Given the description of an element on the screen output the (x, y) to click on. 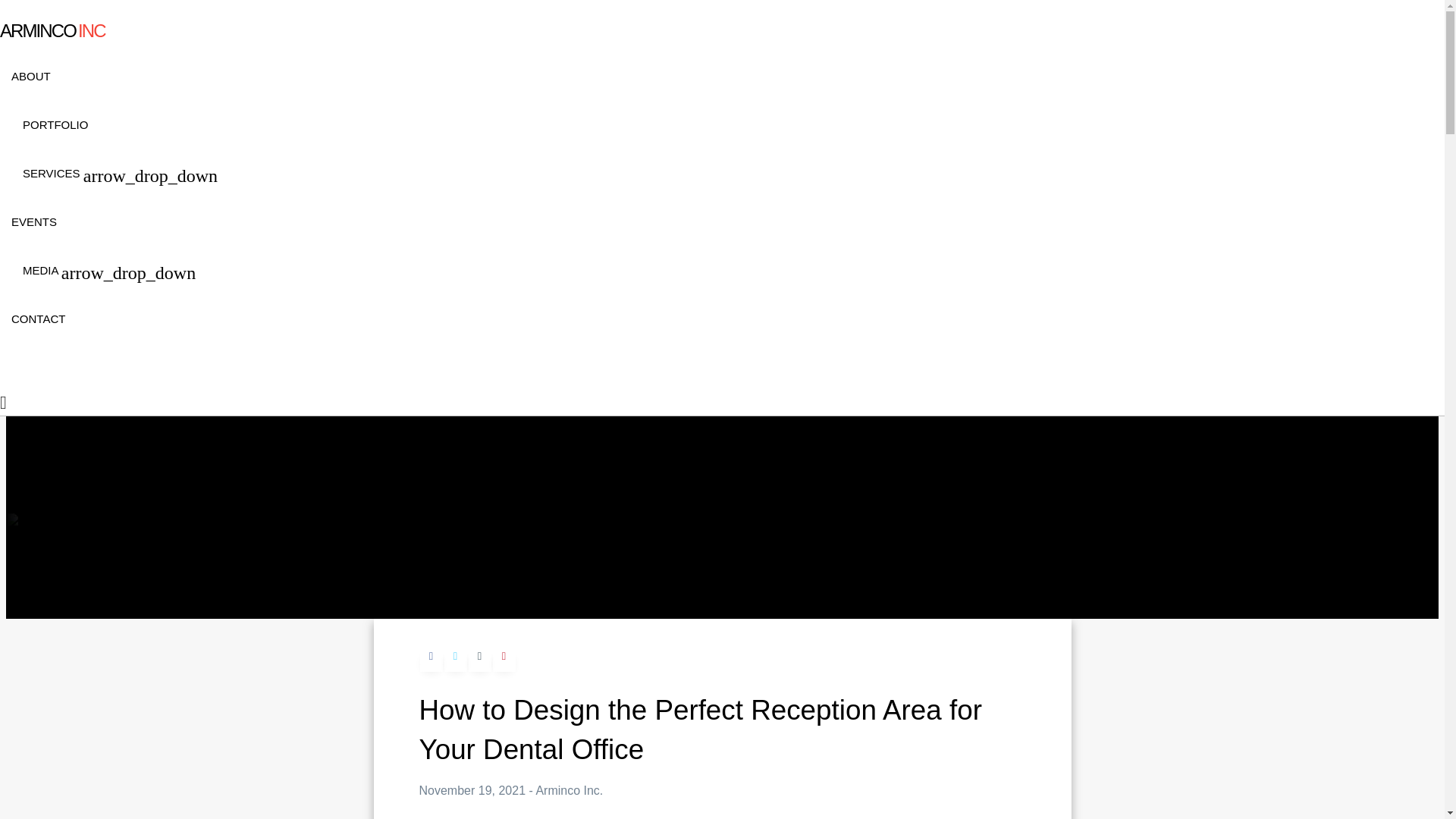
PORTFOLIO (682, 148)
EVENTS (682, 245)
ABOUT (682, 100)
CONTACT (682, 342)
important in businesse (853, 818)
